Given the description of an element on the screen output the (x, y) to click on. 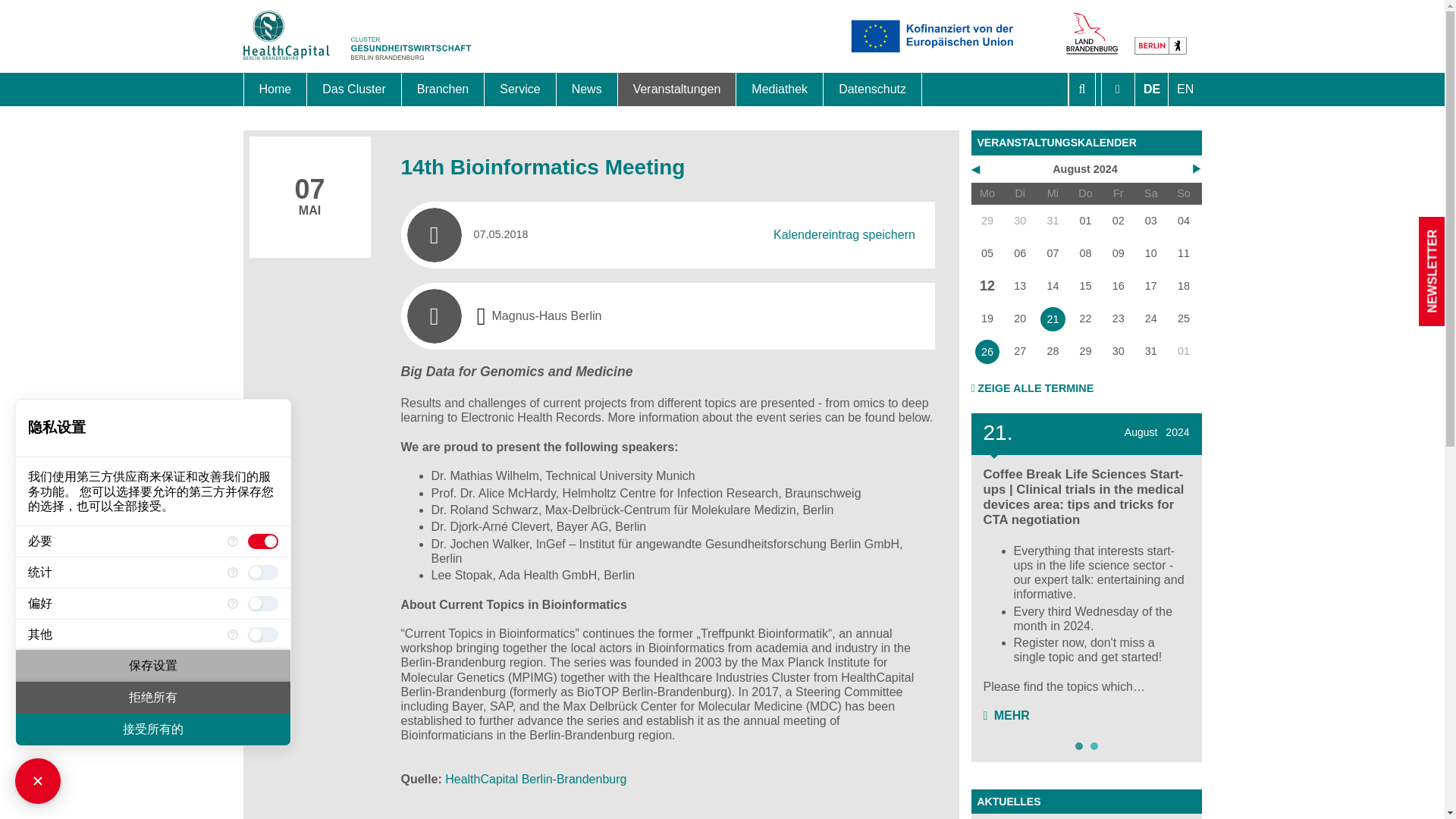
Home (275, 89)
News (586, 89)
Veranstaltungen (676, 89)
EN (1183, 89)
Das Cluster (354, 89)
English (1183, 89)
Service (520, 89)
DE (1150, 89)
Branchen (442, 89)
Zur Startseite (356, 66)
